Given the description of an element on the screen output the (x, y) to click on. 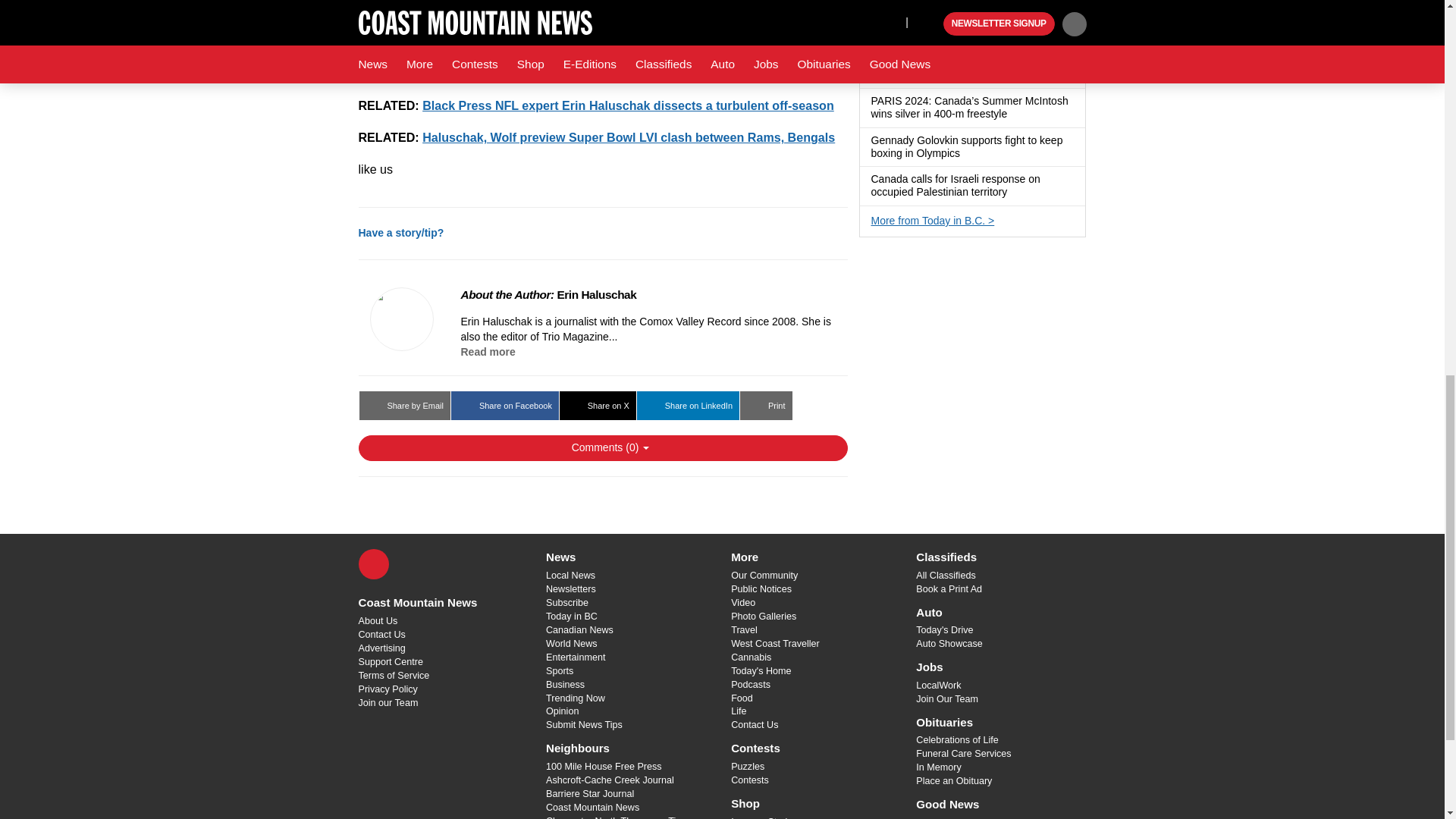
X (373, 563)
Show Comments (602, 447)
